Given the description of an element on the screen output the (x, y) to click on. 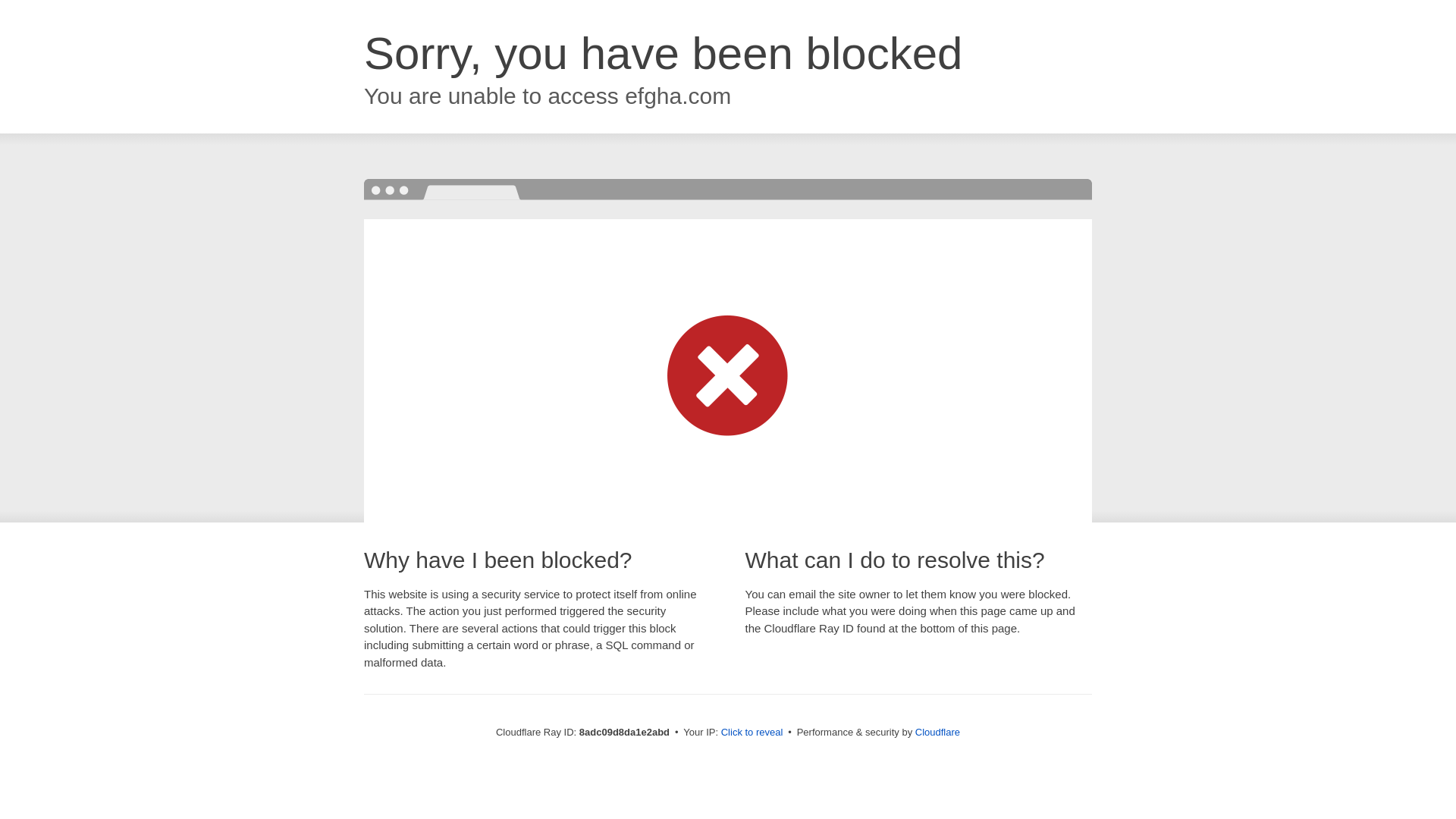
Click to reveal (751, 732)
Cloudflare (937, 731)
